Given the description of an element on the screen output the (x, y) to click on. 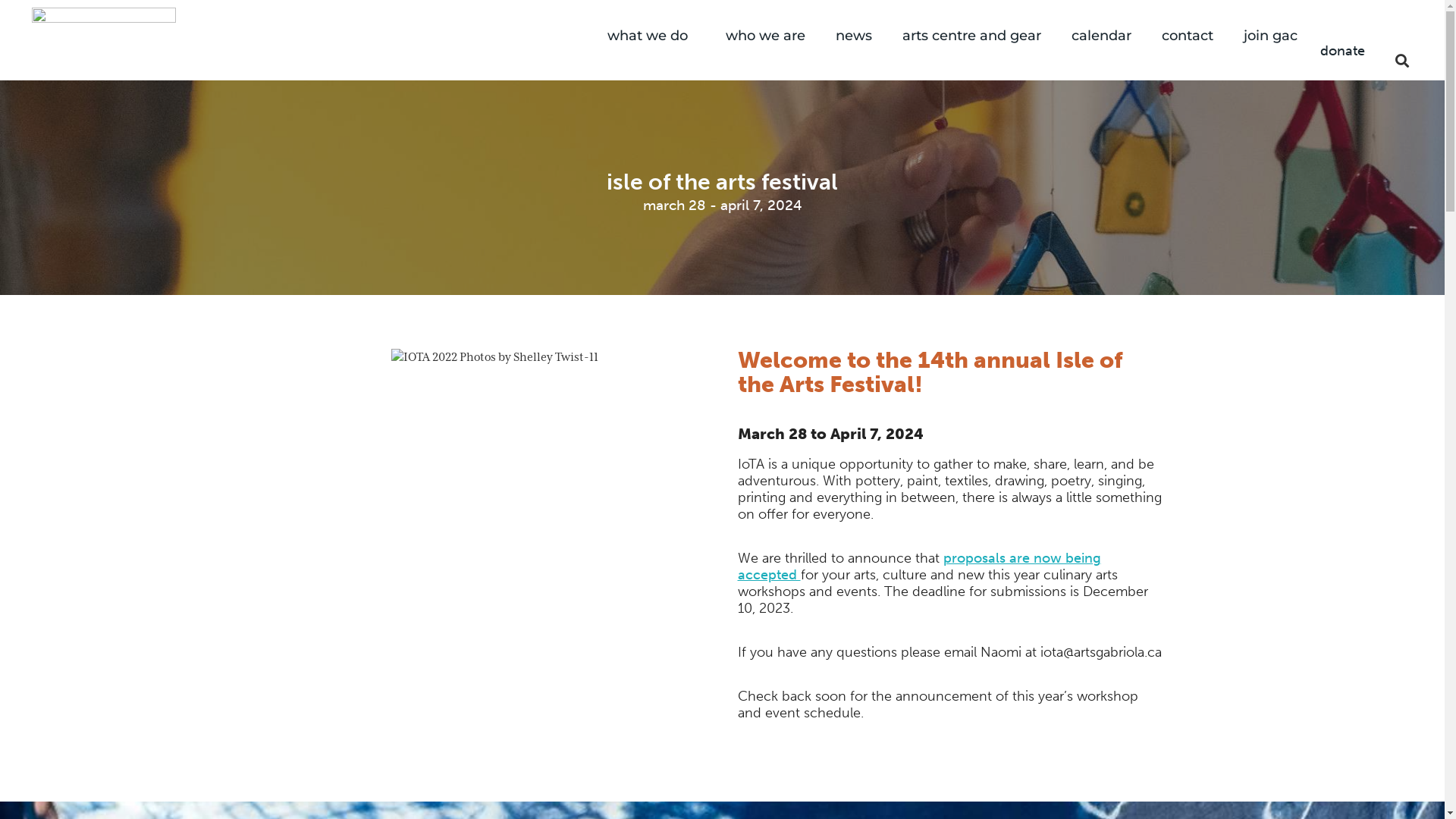
arts centre and gear Element type: text (971, 35)
what we do Element type: text (651, 35)
donate Element type: text (1342, 50)
join gac Element type: text (1270, 35)
isle of the arts festival Element type: text (722, 181)
Search Element type: hover (1409, 59)
contact Element type: text (1187, 35)
news Element type: text (853, 35)
IOTA 2022 Photos by Shelley Twist-11 Element type: hover (494, 356)
proposals are now being accepted Element type: text (918, 566)
calendar Element type: text (1101, 35)
who we are Element type: text (765, 35)
